Given the description of an element on the screen output the (x, y) to click on. 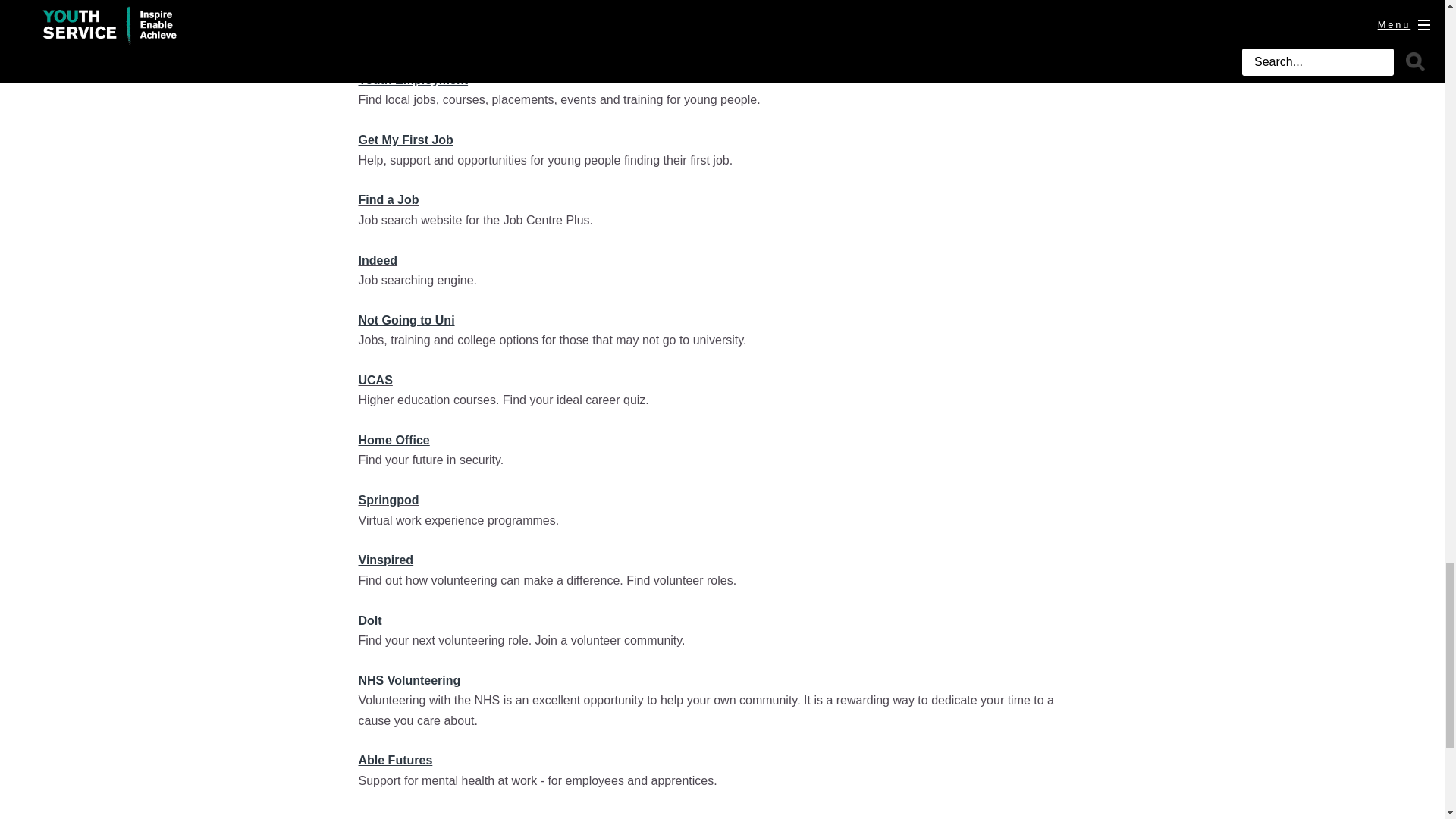
Get My First Job (405, 139)
Find a Job (388, 199)
BBC Bitesize Careers (419, 2)
Youth Employment (412, 79)
